Given the description of an element on the screen output the (x, y) to click on. 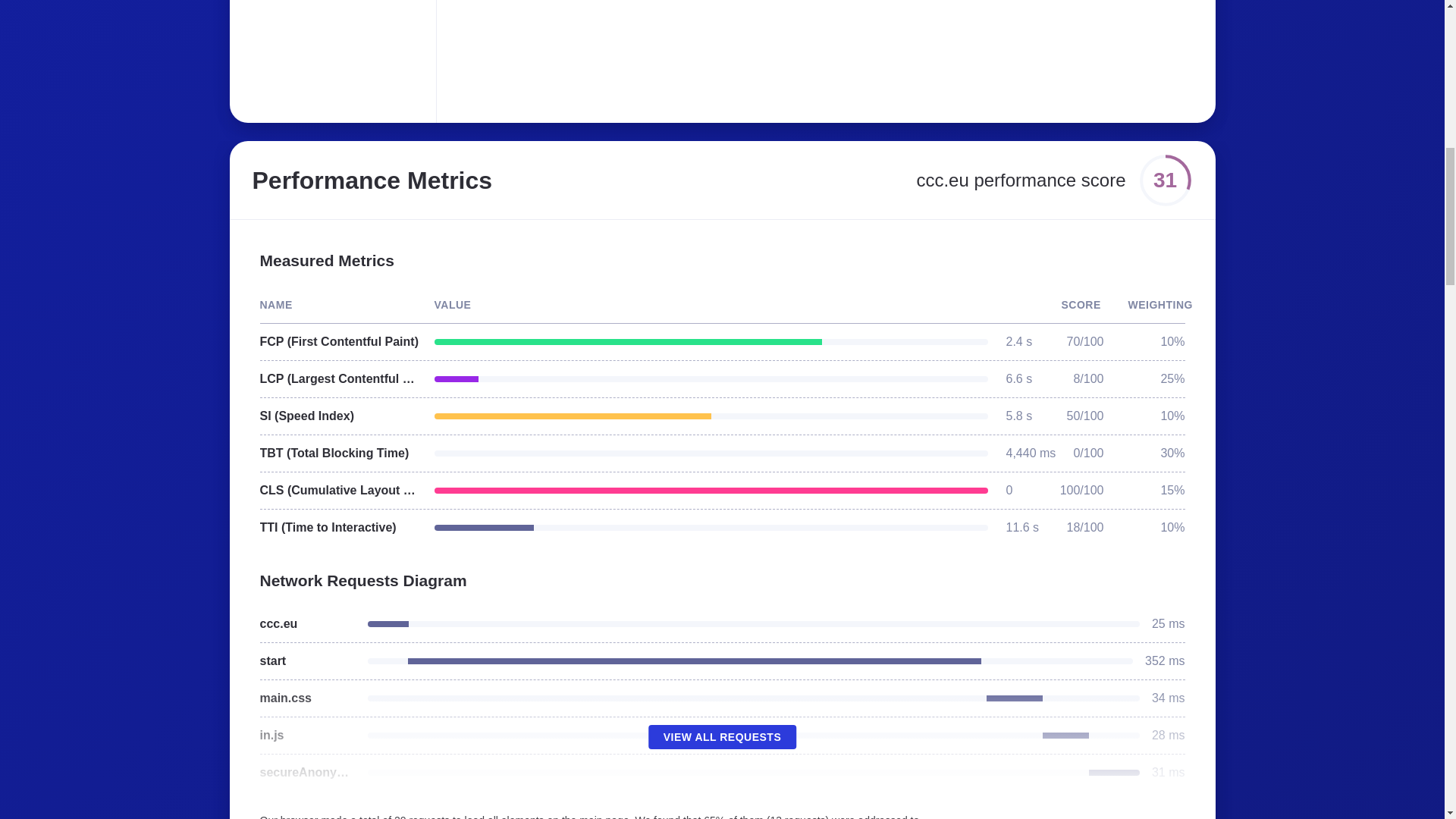
VIEW ALL REQUESTS (721, 736)
